Given the description of an element on the screen output the (x, y) to click on. 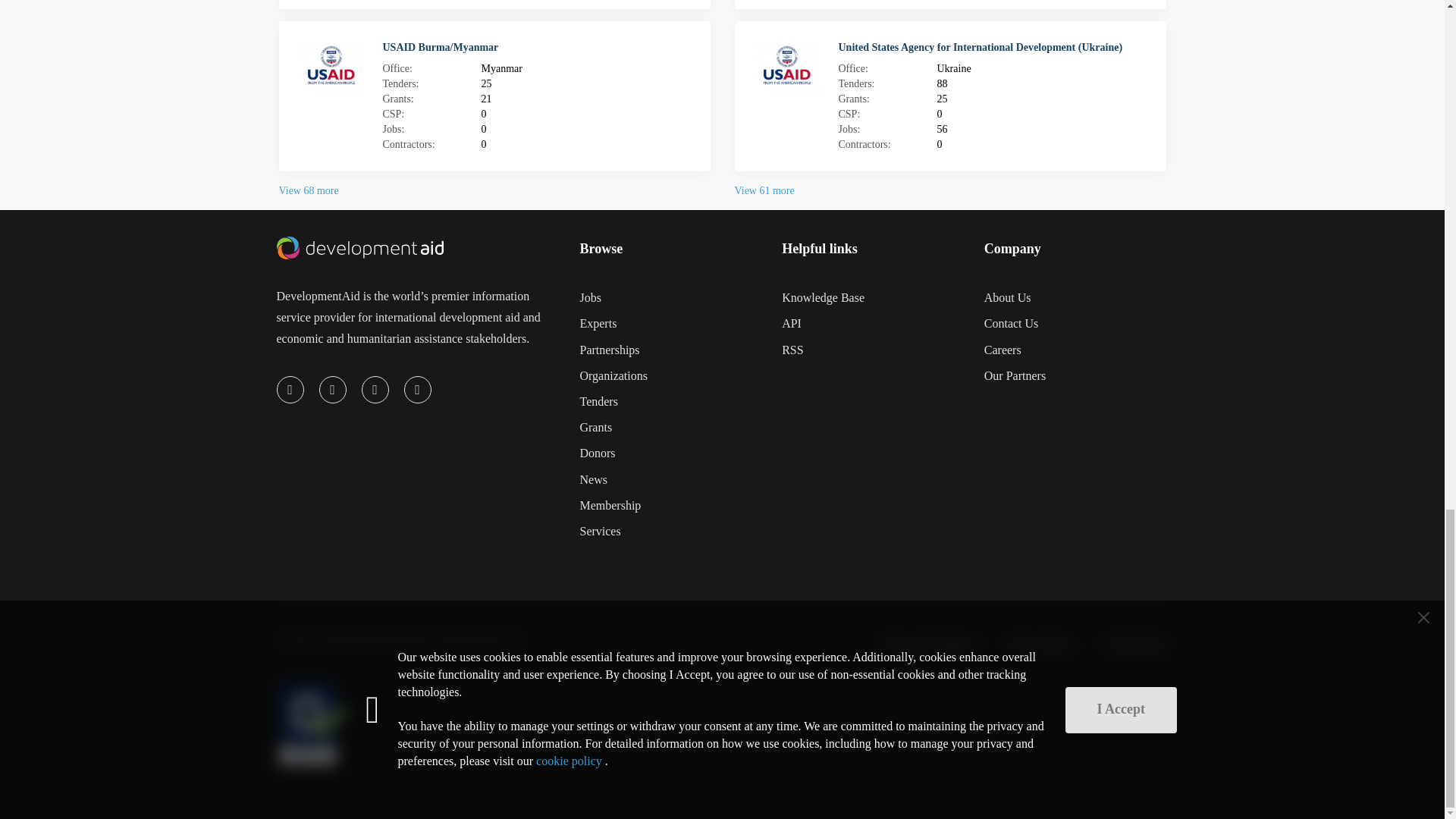
View 68 more (309, 190)
